Given the description of an element on the screen output the (x, y) to click on. 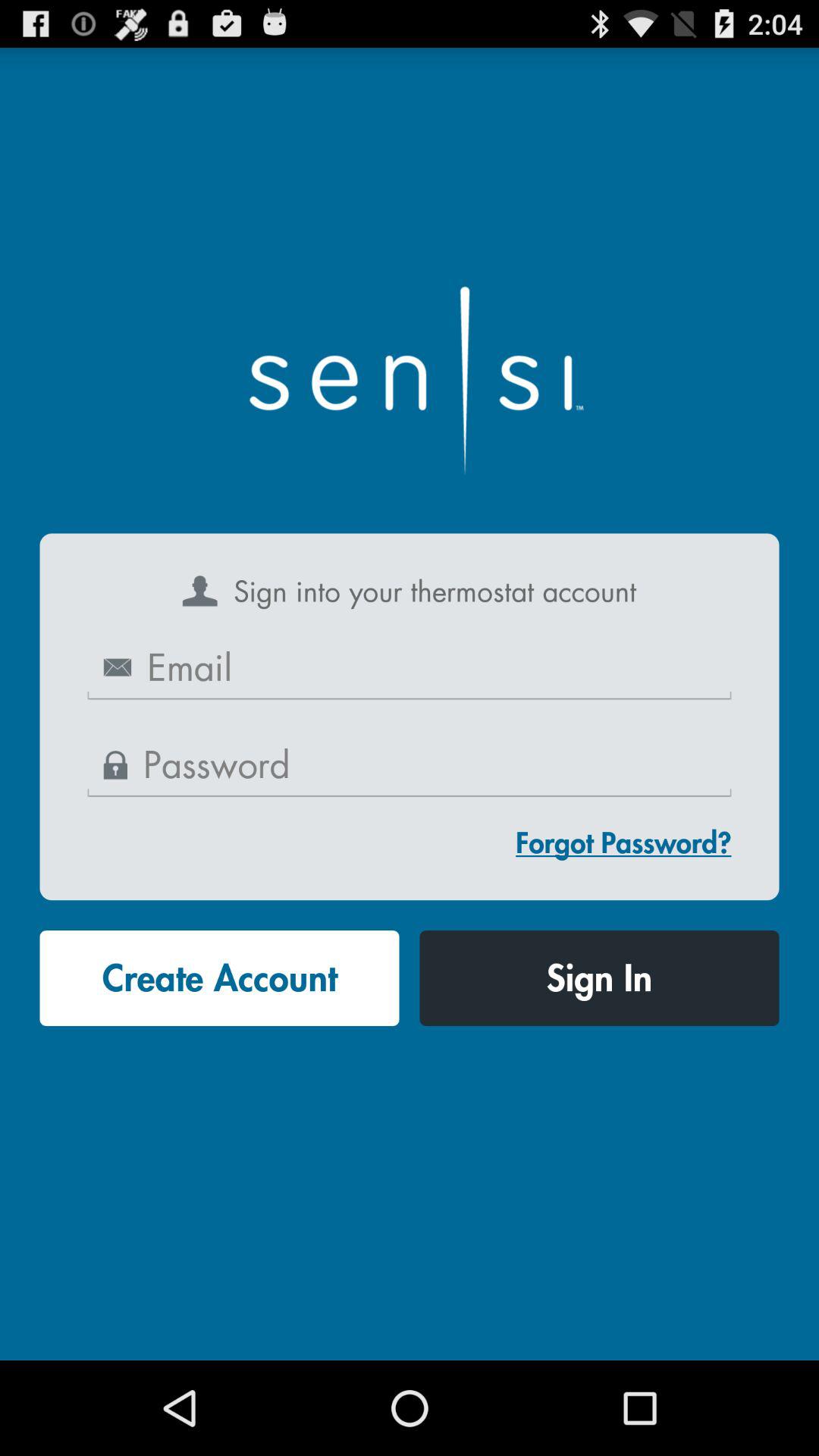
turn on the icon at the bottom right corner (599, 978)
